Given the description of an element on the screen output the (x, y) to click on. 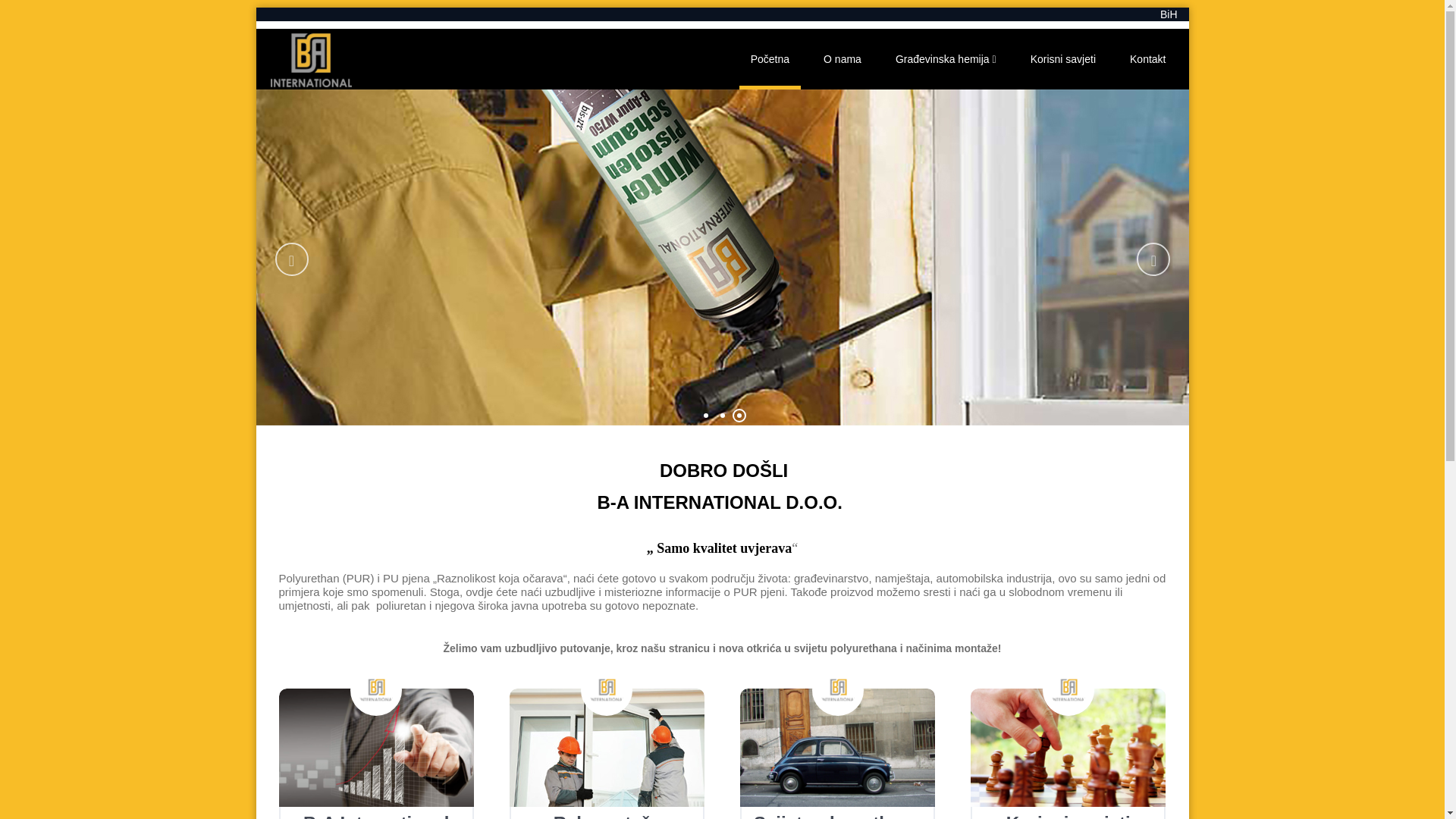
Korisni savjeti Element type: text (1063, 58)
O nama Element type: text (842, 58)
3 Element type: text (739, 415)
Kontakt Element type: text (1147, 58)
2 Element type: text (722, 415)
1 Element type: text (705, 415)
